Given the description of an element on the screen output the (x, y) to click on. 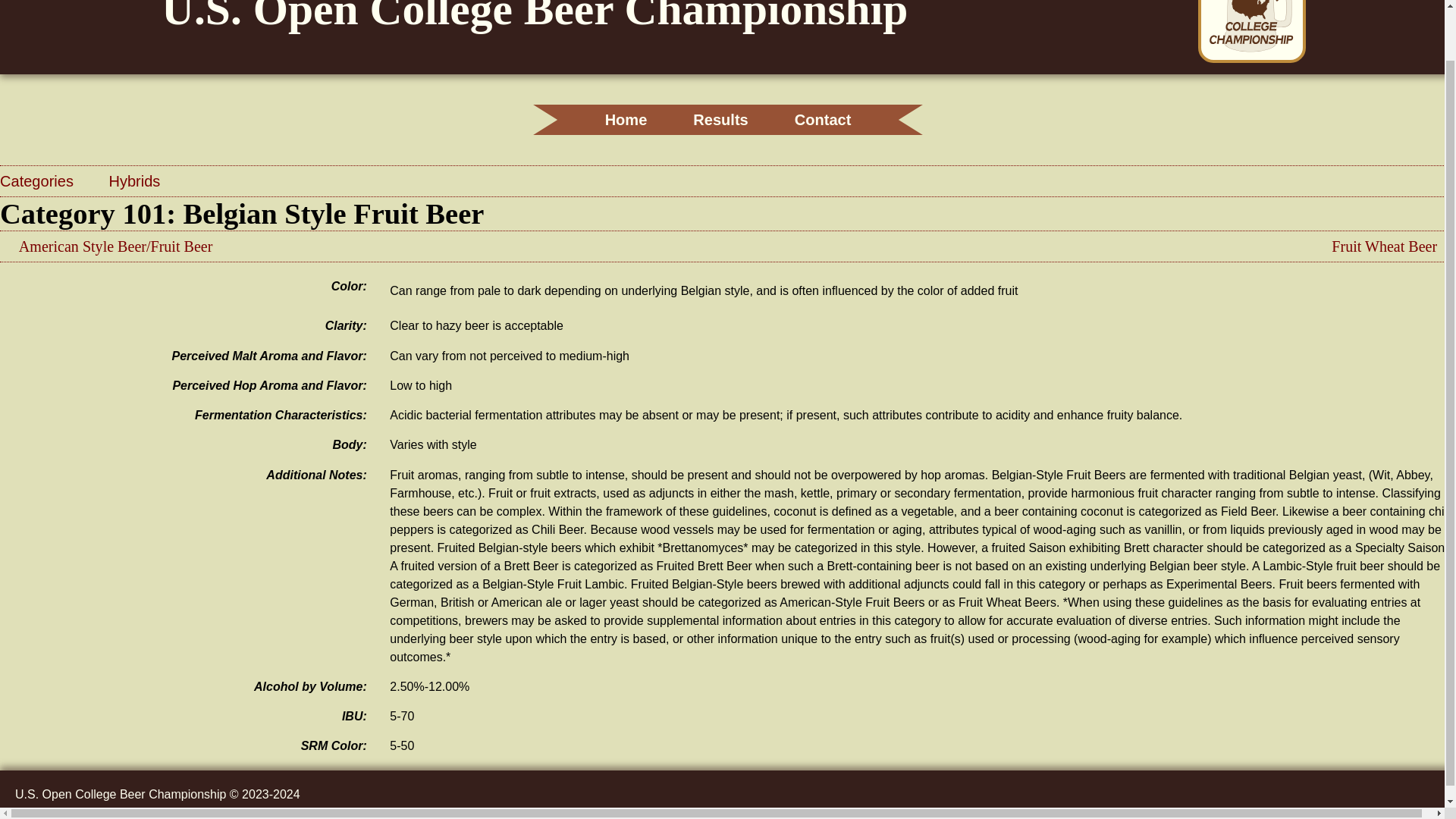
Hybrids (133, 180)
U.S. Open College Beer Championship (534, 19)
Contact (822, 119)
Fruit Wheat Beer (1384, 246)
Home (626, 119)
Results (720, 119)
Categories (39, 180)
